Given the description of an element on the screen output the (x, y) to click on. 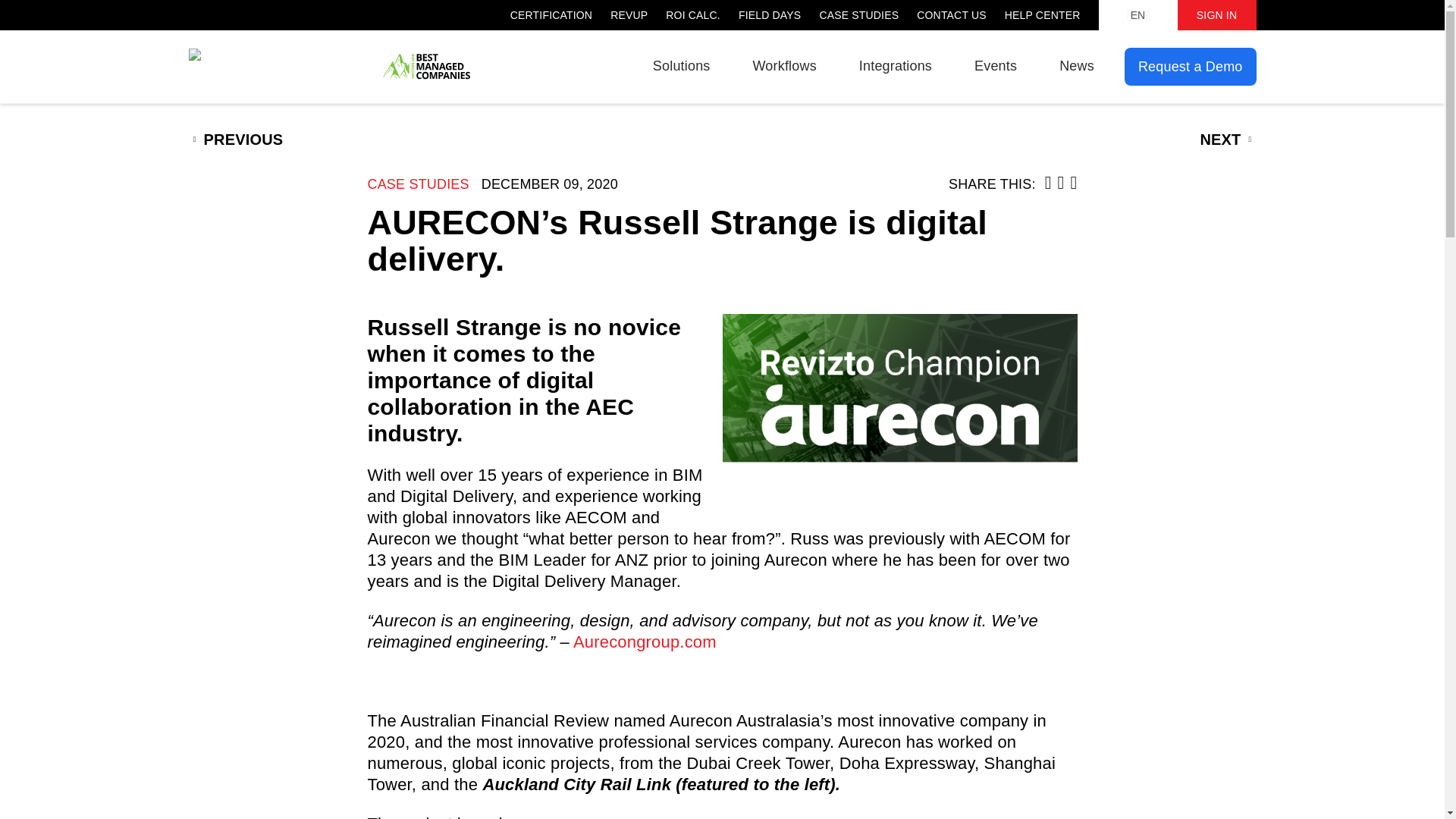
Solutions (681, 65)
NEXT (1227, 139)
PREVIOUS (234, 139)
CASE STUDIES (417, 184)
ROI CALC. (692, 14)
HELP CENTER (1042, 14)
Integrations (895, 65)
SIGN IN (1216, 14)
REVUP (628, 14)
en (1138, 15)
